Given the description of an element on the screen output the (x, y) to click on. 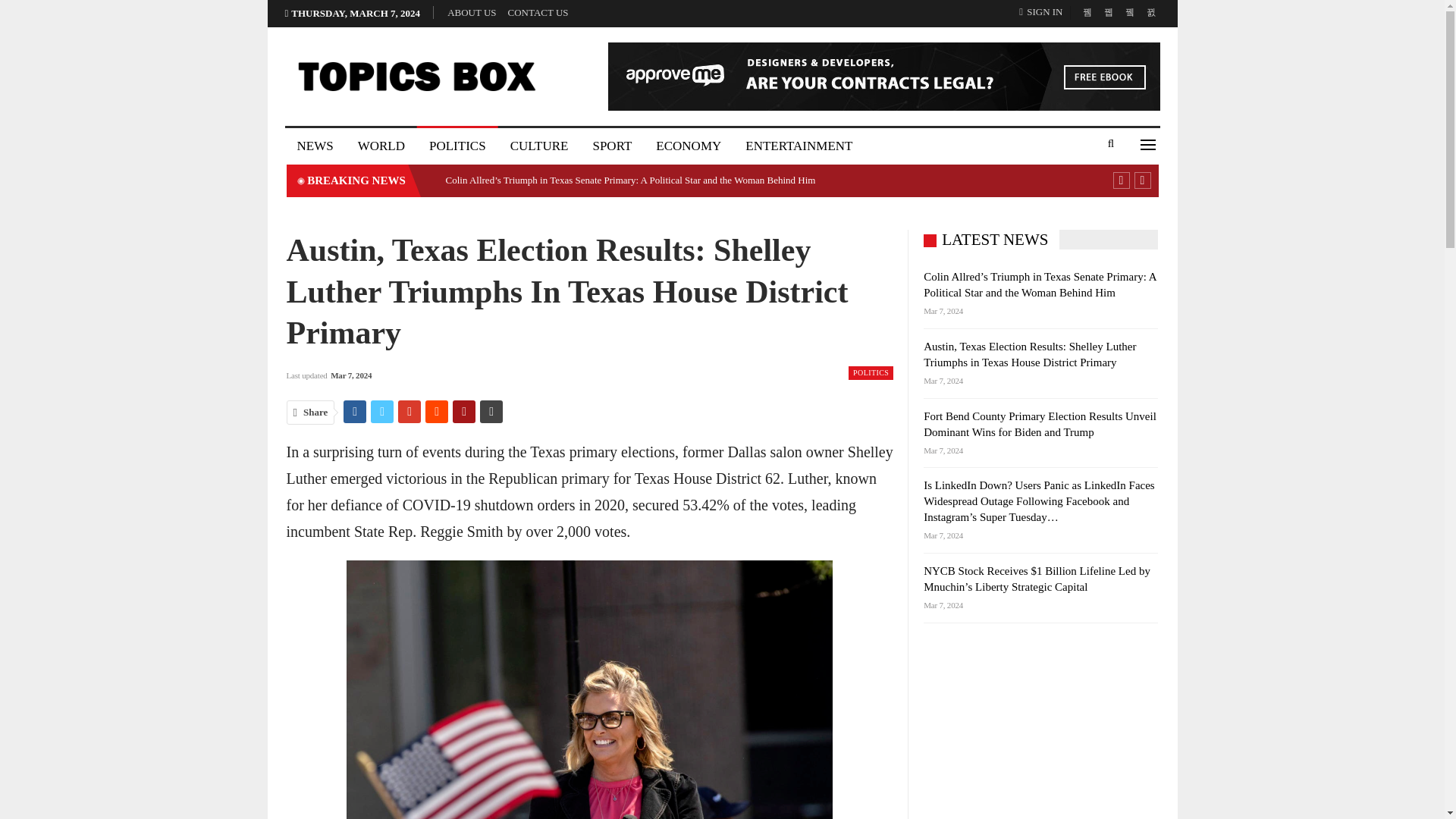
ENTERTAINMENT (798, 145)
POLITICS (456, 145)
SPORT (611, 145)
ABOUT US (471, 12)
CONTACT US (538, 12)
CULTURE (538, 145)
WORLD (381, 145)
SIGN IN (1043, 12)
NEWS (315, 145)
ECONOMY (688, 145)
